Given the description of an element on the screen output the (x, y) to click on. 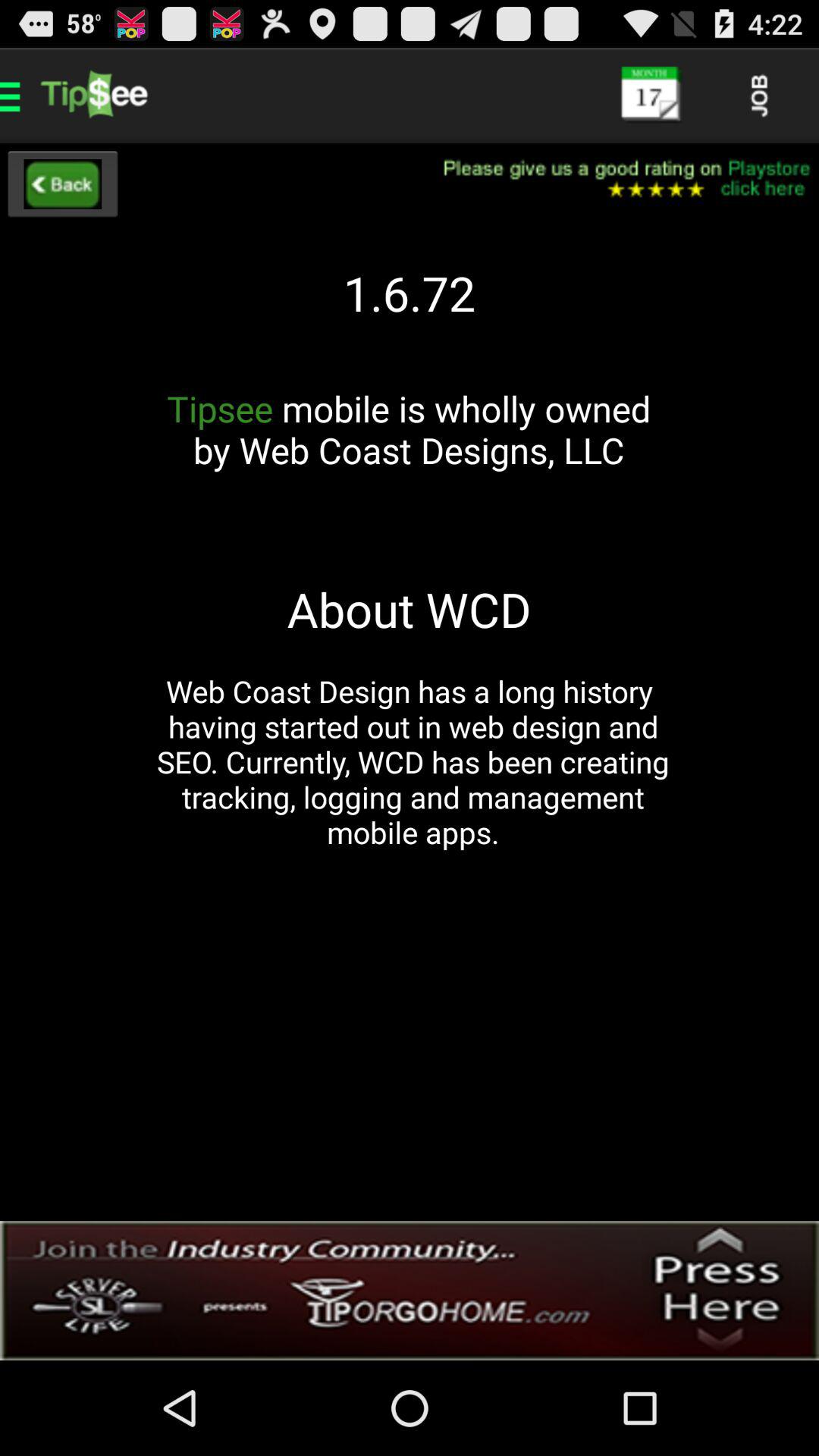
click icon above the 1.6.72 app (616, 178)
